Given the description of an element on the screen output the (x, y) to click on. 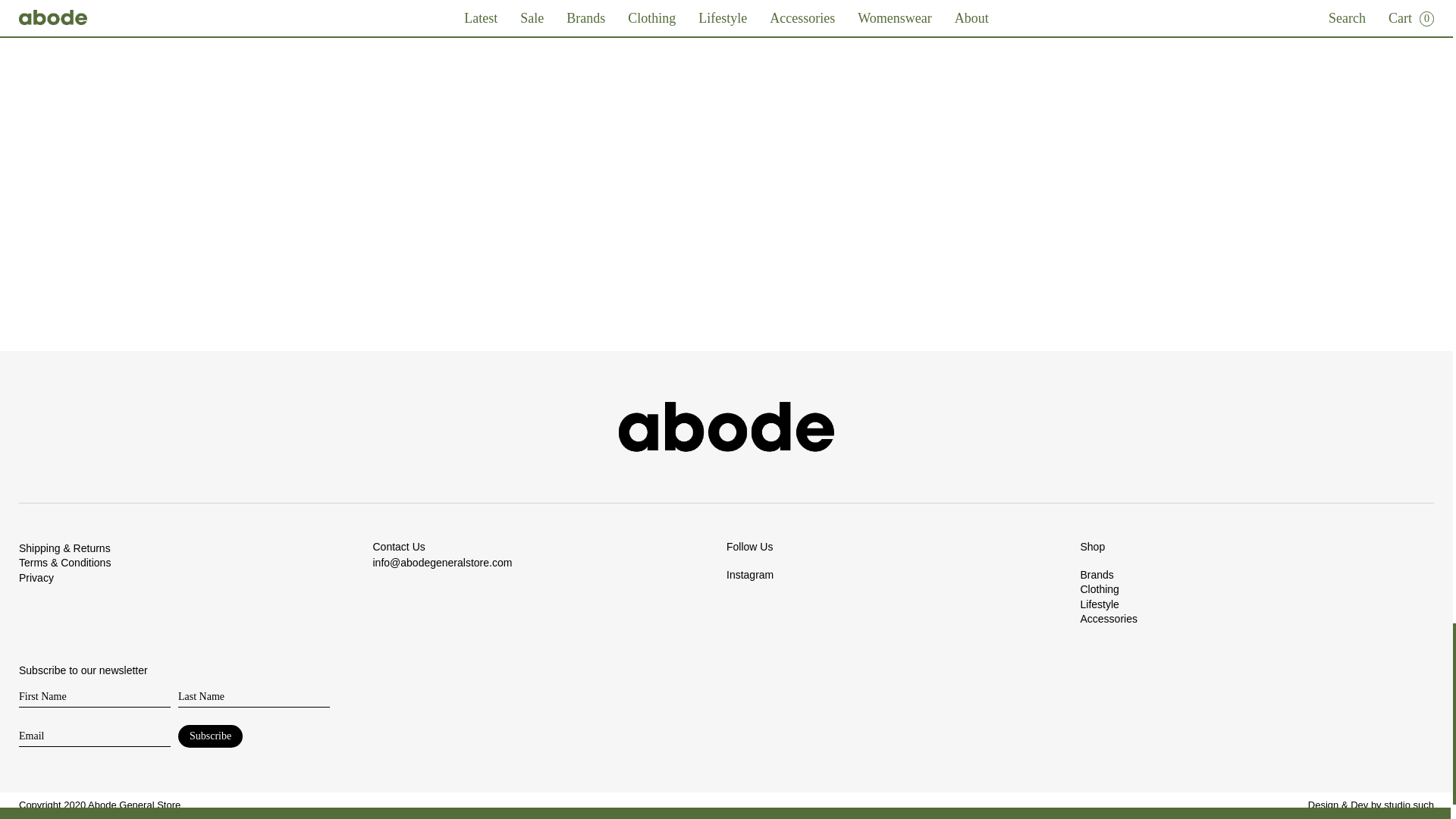
Subscribe (210, 735)
Subscribe (210, 735)
studio such (1409, 804)
Accessories (1257, 619)
Privacy (195, 578)
Lifestyle (1257, 604)
Instagram (903, 575)
Brands (1257, 575)
Clothing (1257, 589)
